Given the description of an element on the screen output the (x, y) to click on. 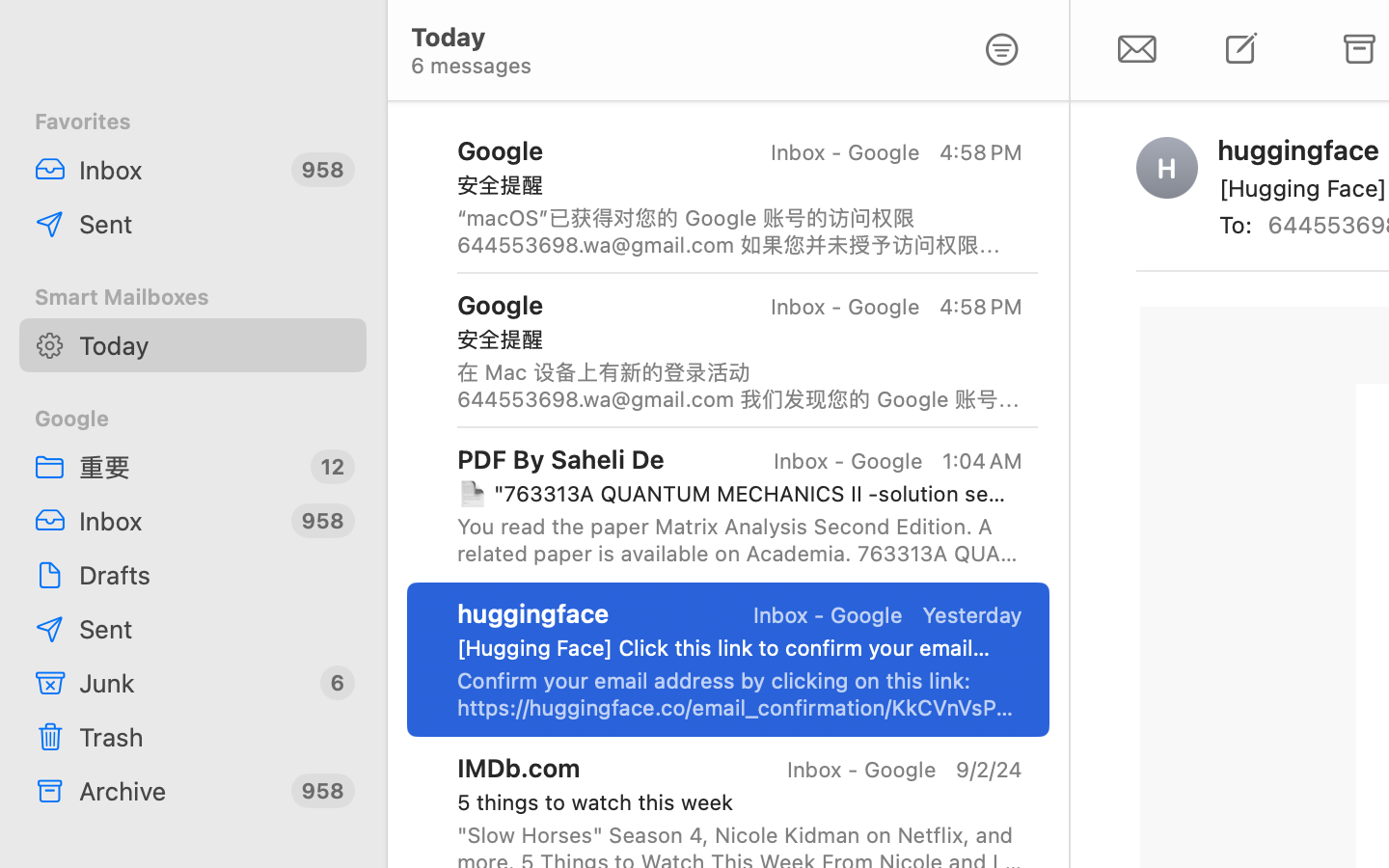
1:04 AM Element type: AXStaticText (980, 460)
Sent Element type: AXStaticText (214, 223)
Today Element type: AXTextField (214, 344)
Inbox Element type: AXStaticText (177, 169)
0 Element type: AXCheckBox (1002, 50)
